Given the description of an element on the screen output the (x, y) to click on. 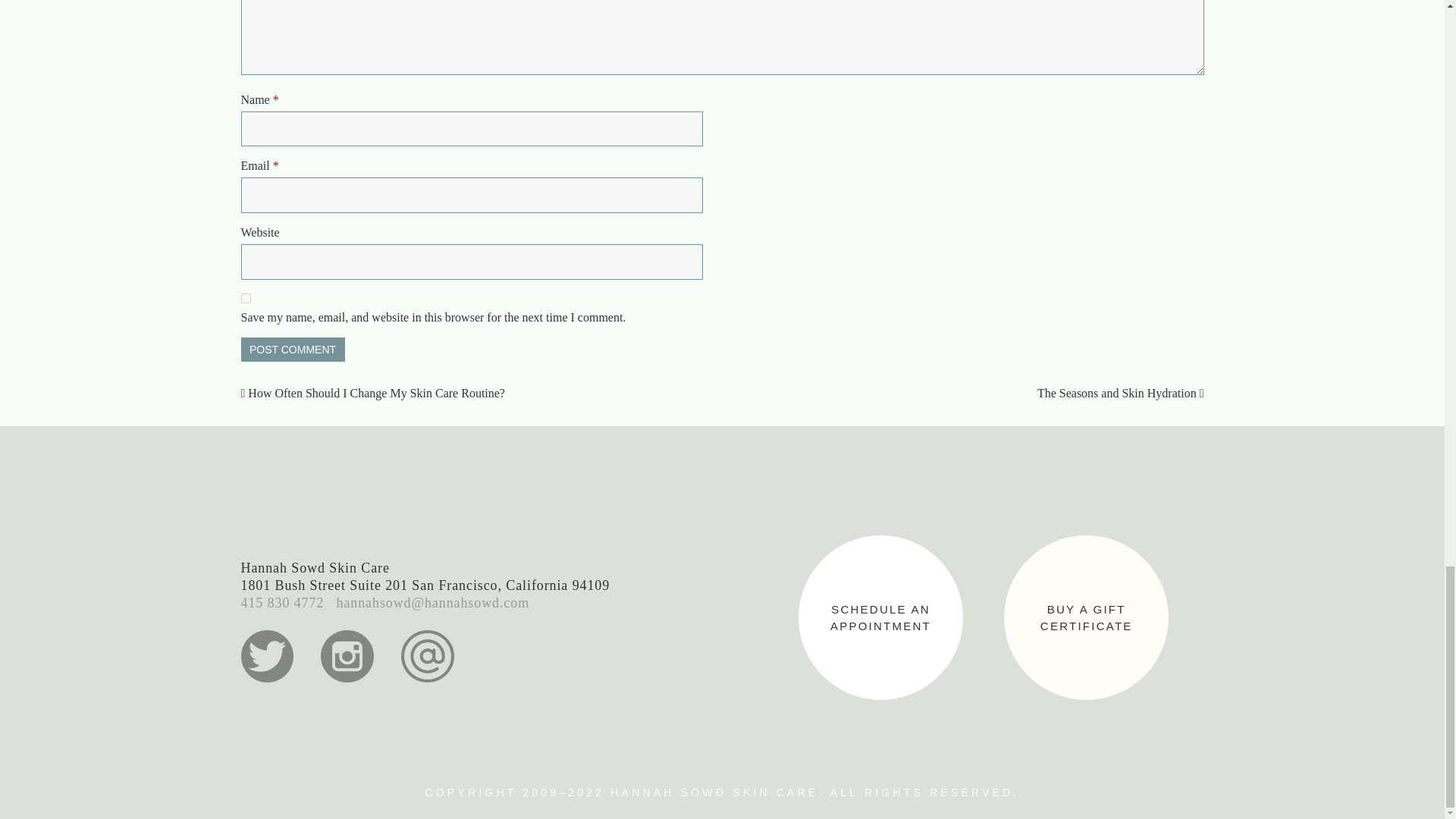
The Seasons and Skin Hydration (1120, 392)
SCHEDULE AN APPOINTMENT (879, 625)
yes (245, 298)
Post Comment (293, 349)
How Often Should I Change My Skin Care Routine? (373, 392)
Post Comment (1086, 625)
415 830 4772 (293, 349)
